Given the description of an element on the screen output the (x, y) to click on. 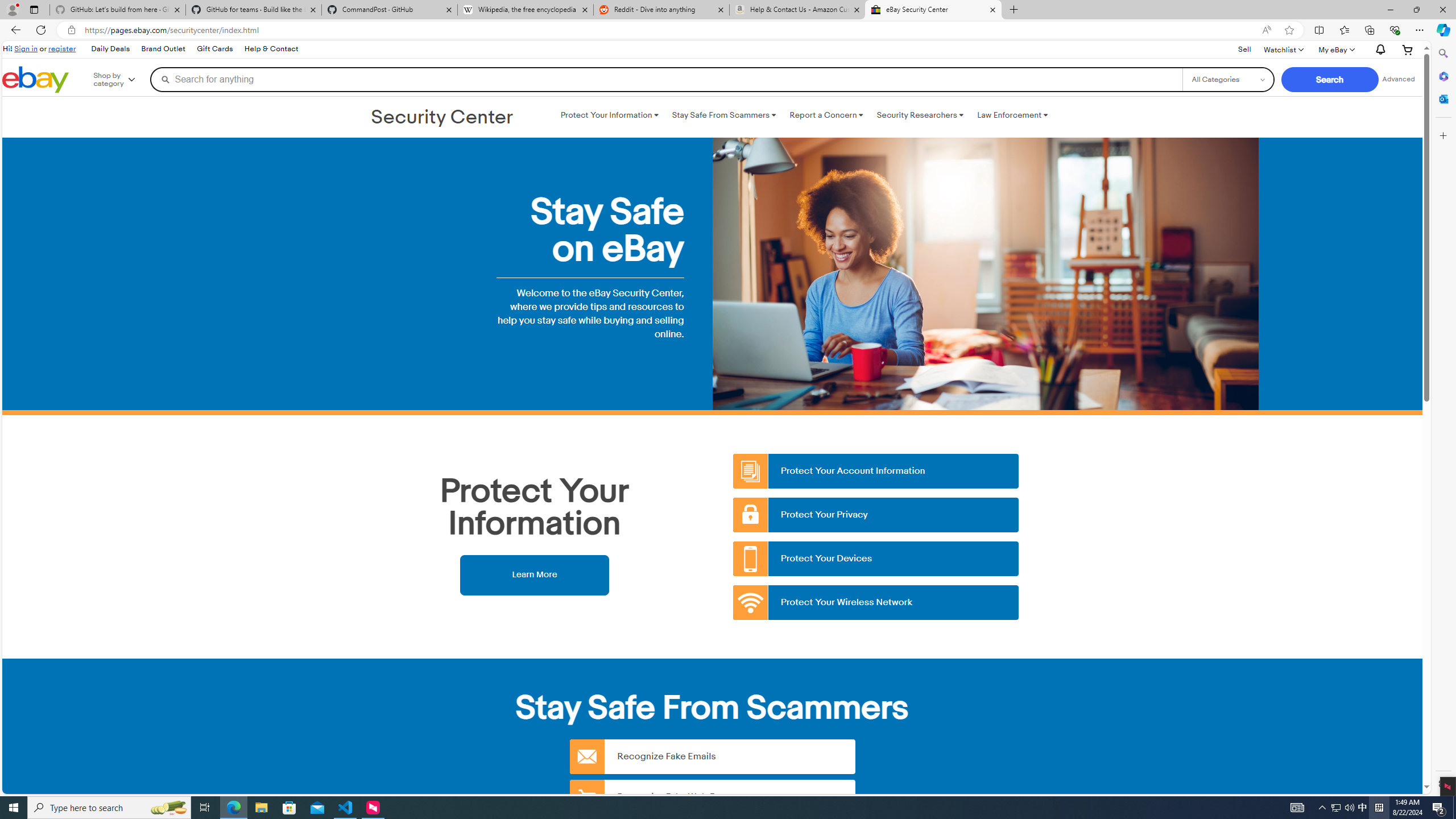
Daily Deals (109, 49)
Watchlist (1282, 49)
Sell (1244, 49)
Report a Concern  (826, 115)
Help & Contact (270, 49)
Brand Outlet (162, 49)
Recognize Fake Web Pages (712, 796)
AutomationID: gh-eb-Alerts (1378, 49)
Protect Your Privacy (876, 514)
My eBayExpand My eBay (1335, 49)
